Given the description of an element on the screen output the (x, y) to click on. 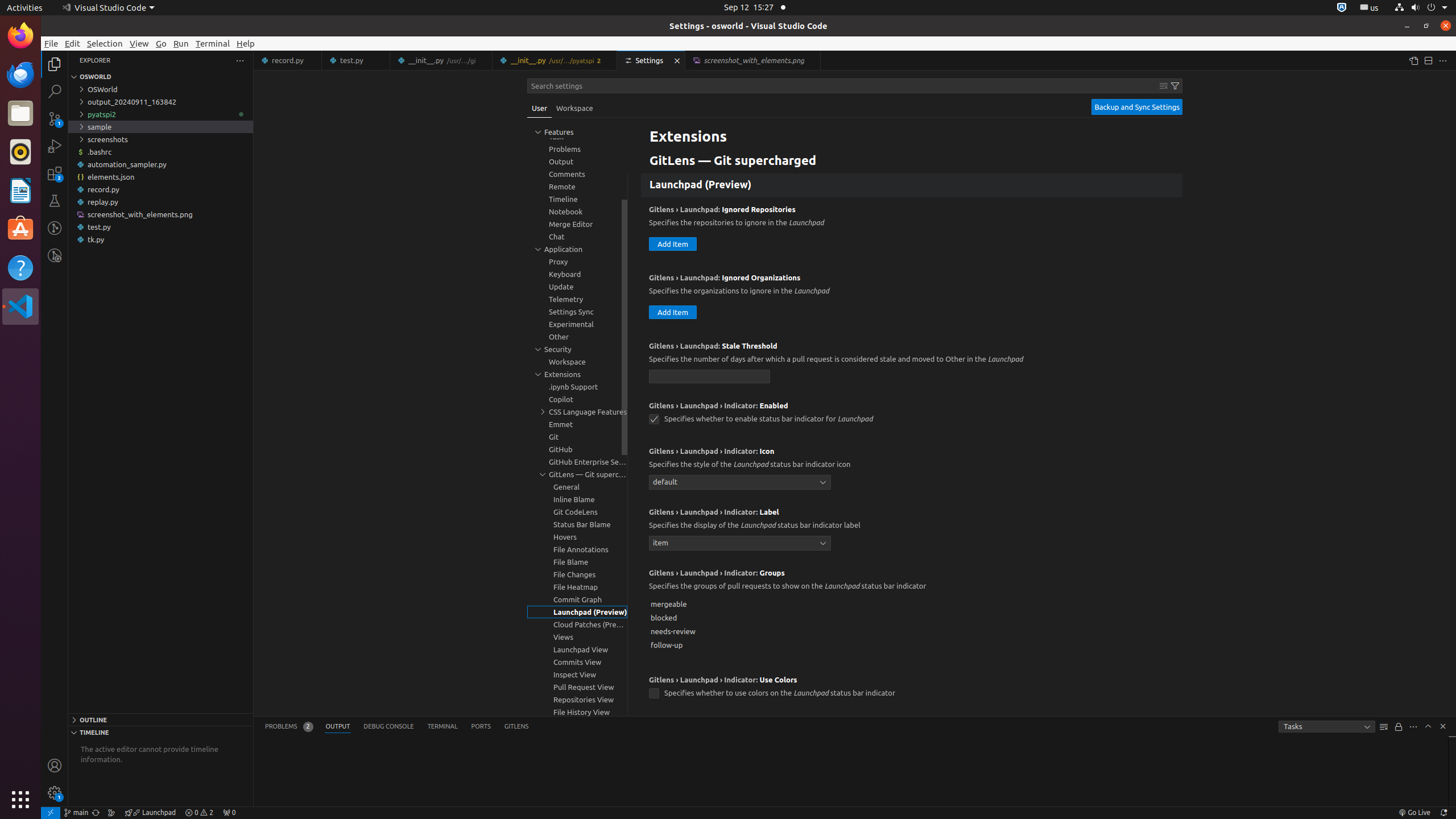
Keyboard, group Element type: tree-item (577, 273)
Commit Graph, group Element type: tree-item (577, 599)
GitHub, group Element type: tree-item (577, 449)
OSWorld Element type: tree-item (160, 89)
screenshot_with_elements.png Element type: tree-item (160, 214)
